Given the description of an element on the screen output the (x, y) to click on. 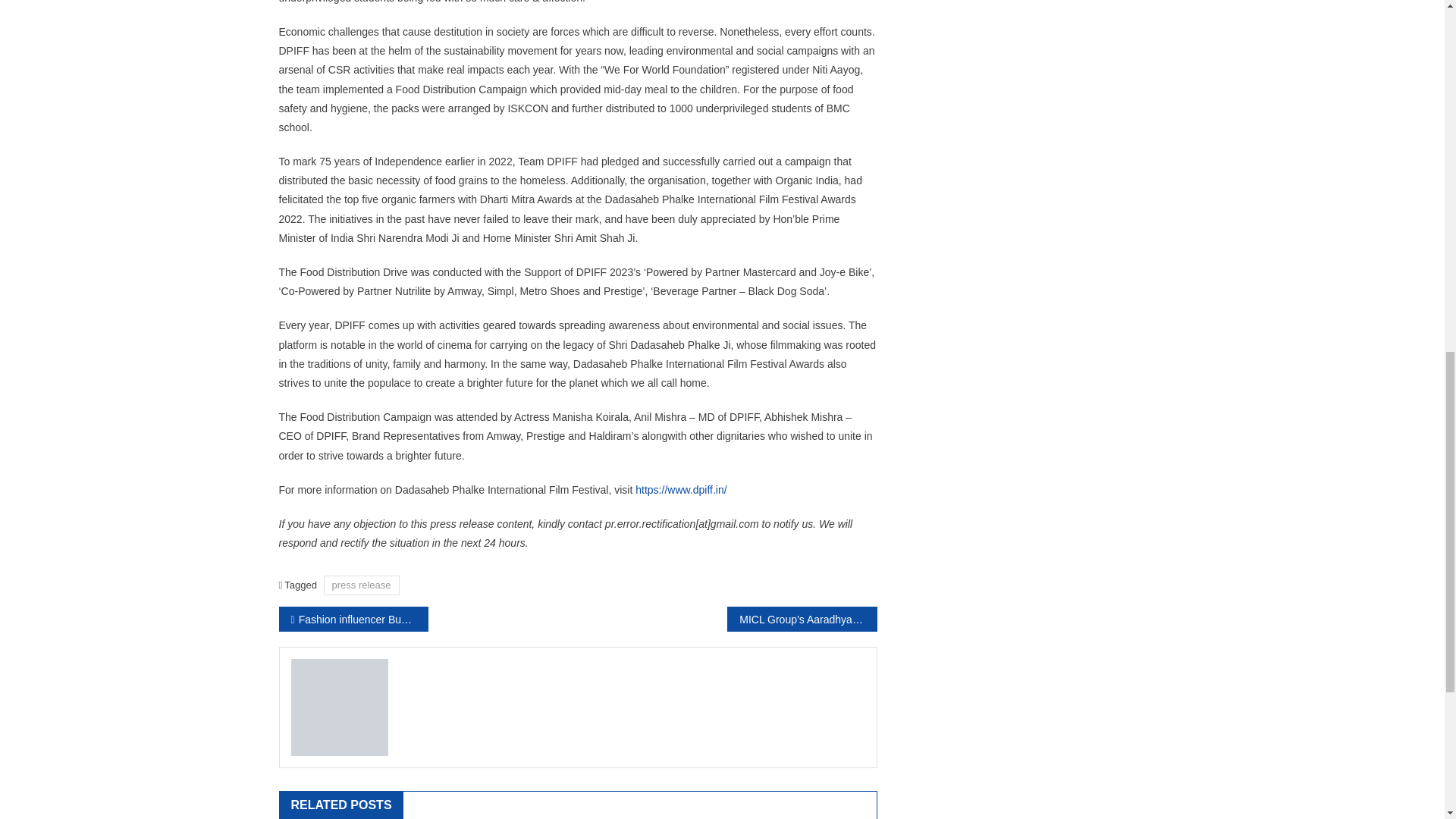
press release (360, 584)
